Given the description of an element on the screen output the (x, y) to click on. 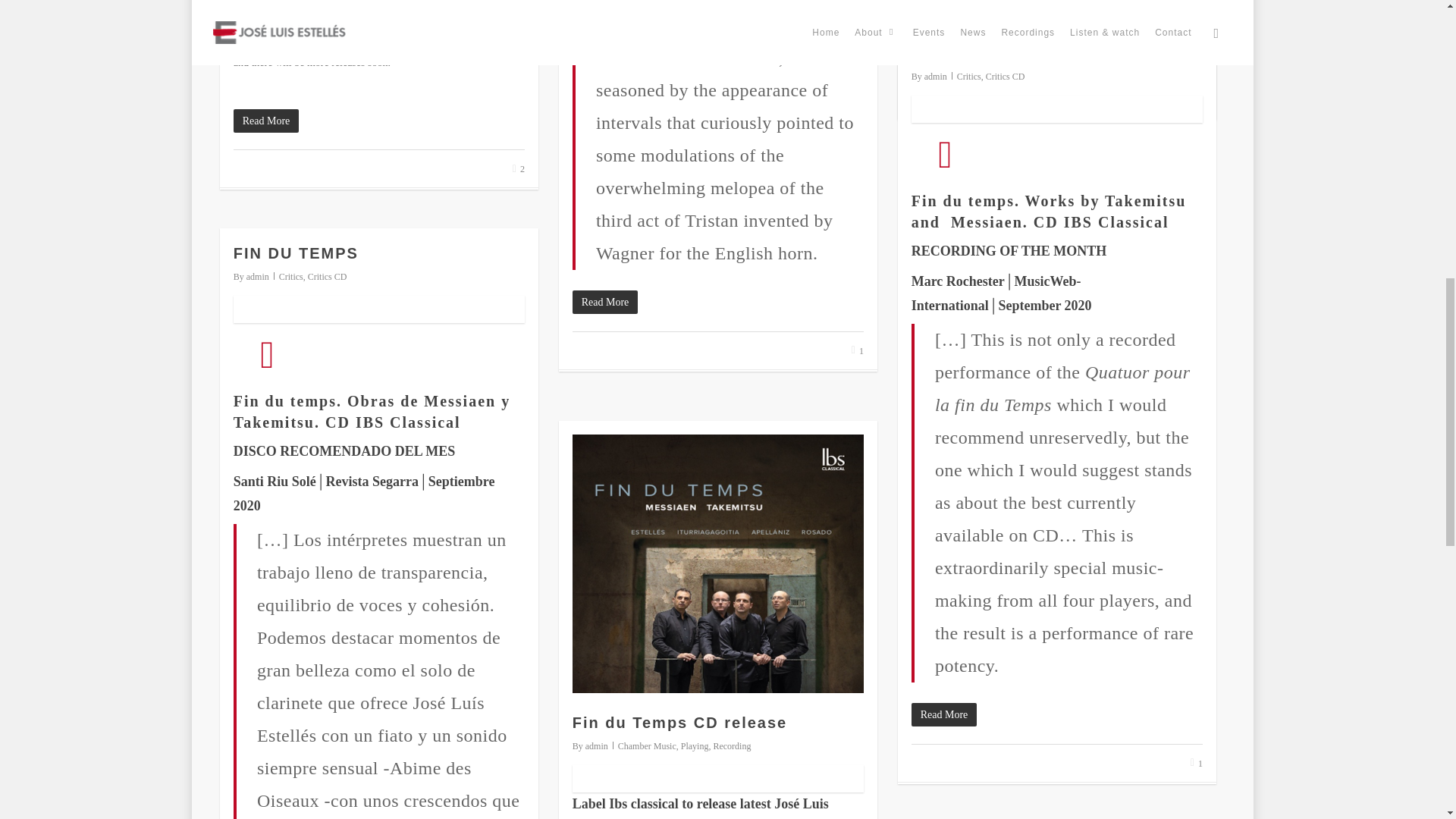
admin (935, 76)
1 (857, 351)
Read More (378, 120)
Love this (857, 351)
Posts by admin (596, 746)
2 (518, 169)
Love this (1194, 99)
Read More (1056, 50)
Read More (717, 302)
RECORDING OF THE MONTH, MUSICWEB-INTERNATIONAL (1037, 41)
Posts by admin (257, 276)
Love this (1196, 763)
33 (1194, 99)
Love this (518, 169)
Posts by admin (935, 76)
